Given the description of an element on the screen output the (x, y) to click on. 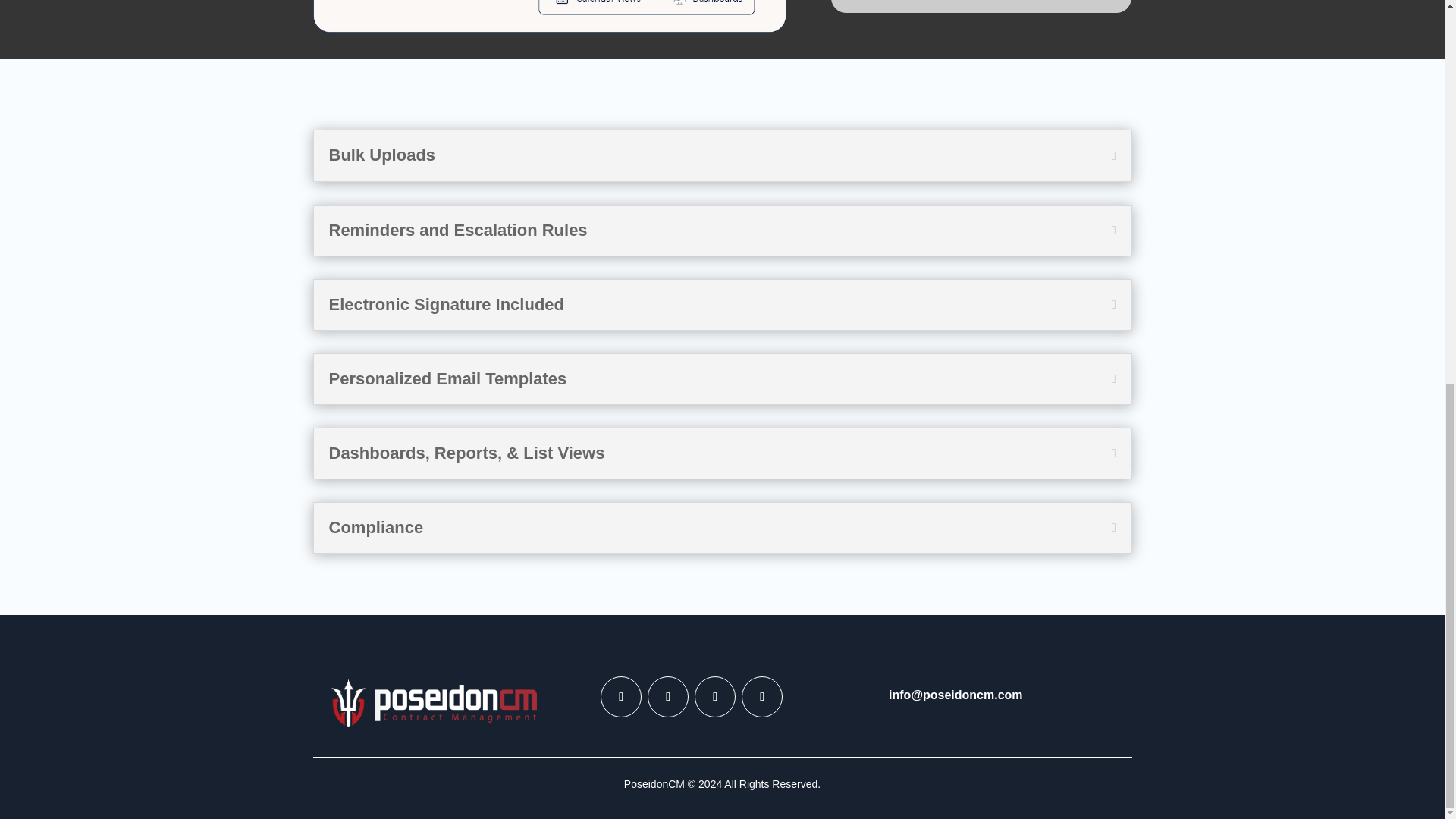
Follow on LinkedIn (620, 696)
Follow on Facebook (714, 696)
Follow on X (762, 696)
Follow on Instagram (667, 696)
